Given the description of an element on the screen output the (x, y) to click on. 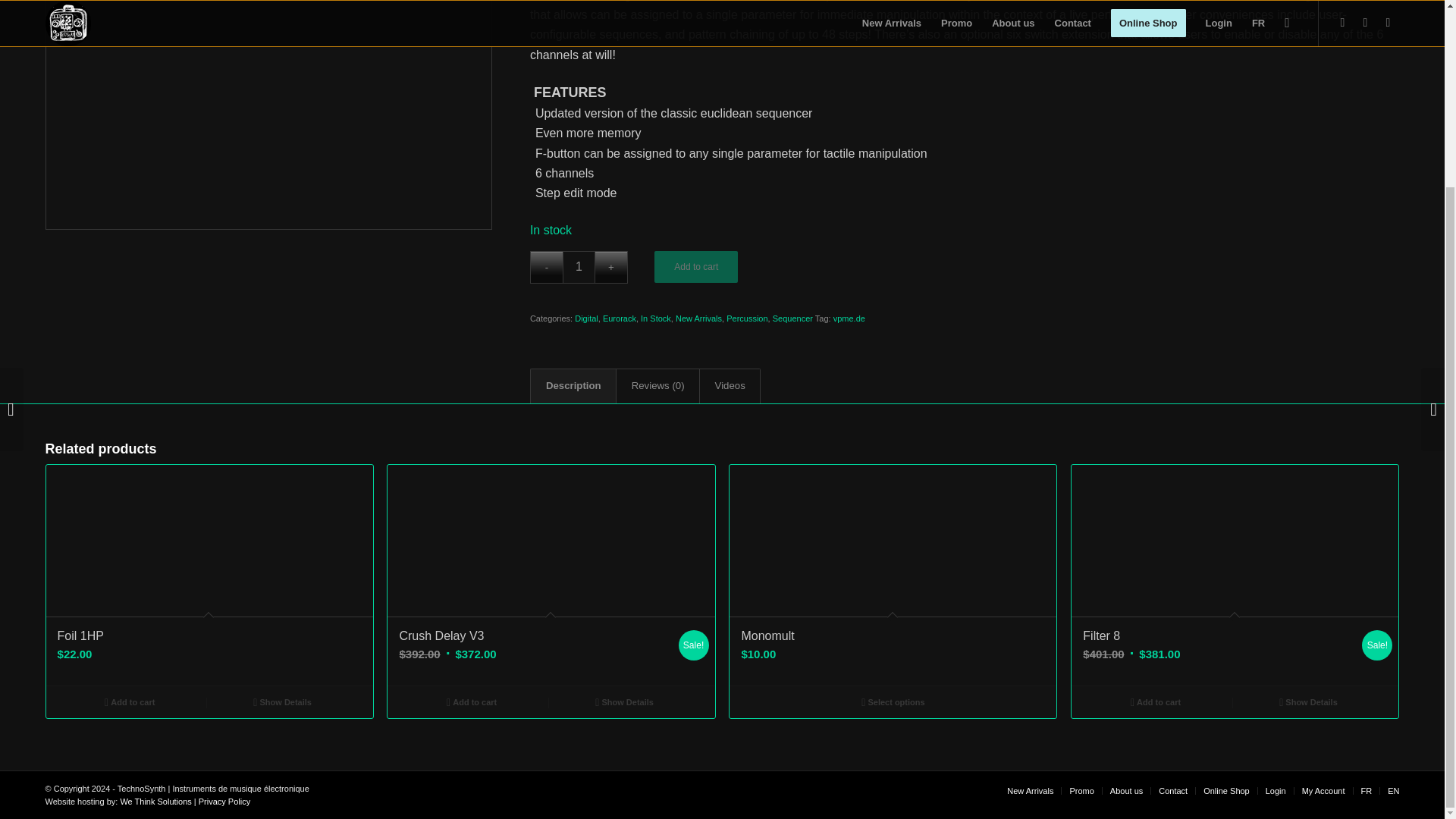
1 (578, 266)
Videos (729, 385)
- (545, 266)
Description (572, 385)
